Given the description of an element on the screen output the (x, y) to click on. 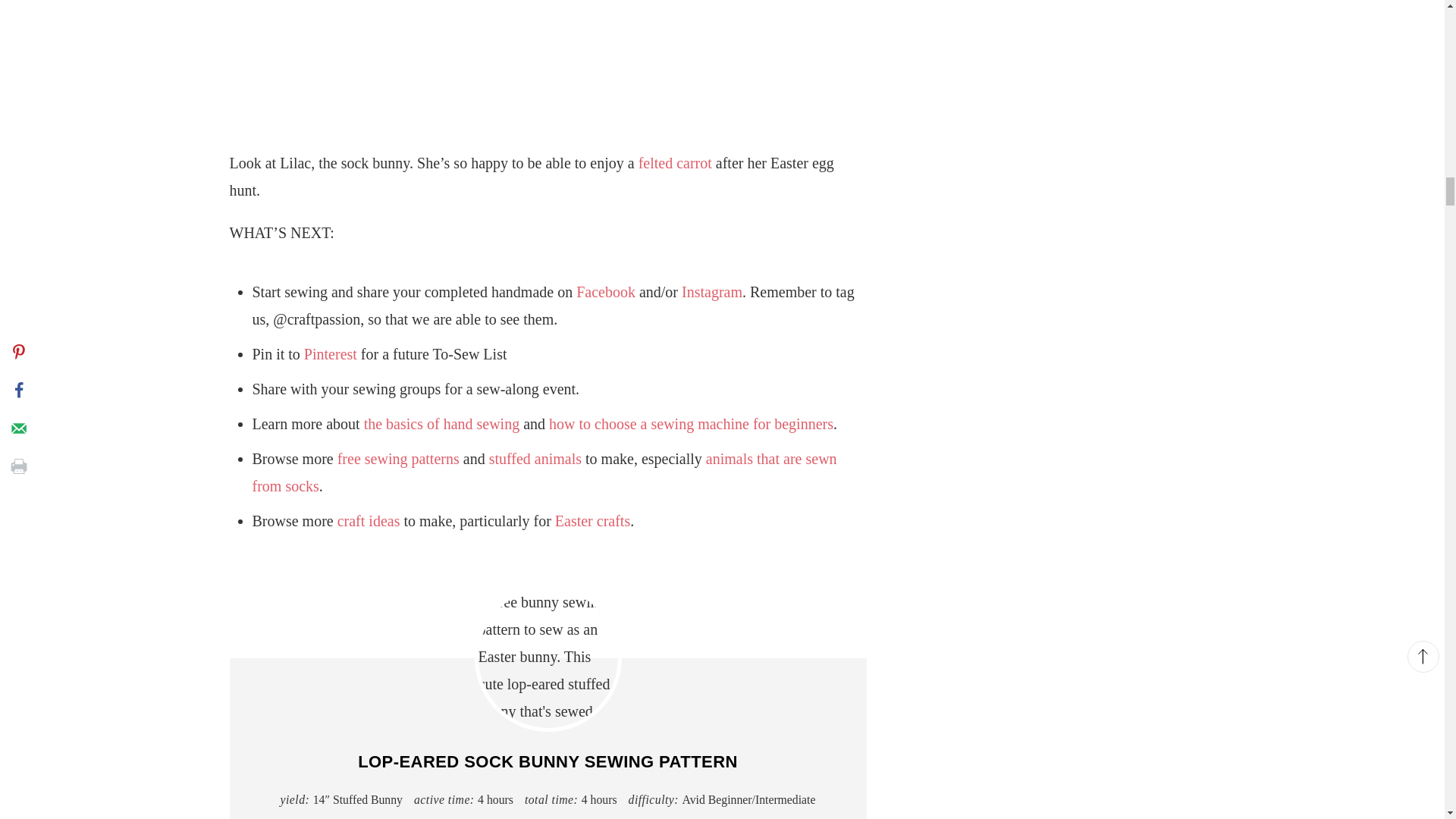
Instagram (711, 291)
Facebook (605, 291)
bunny carrot 1200 (547, 59)
felted carrot (675, 162)
Pinterest (330, 353)
long ear sock bunny 1200 (547, 658)
